Given the description of an element on the screen output the (x, y) to click on. 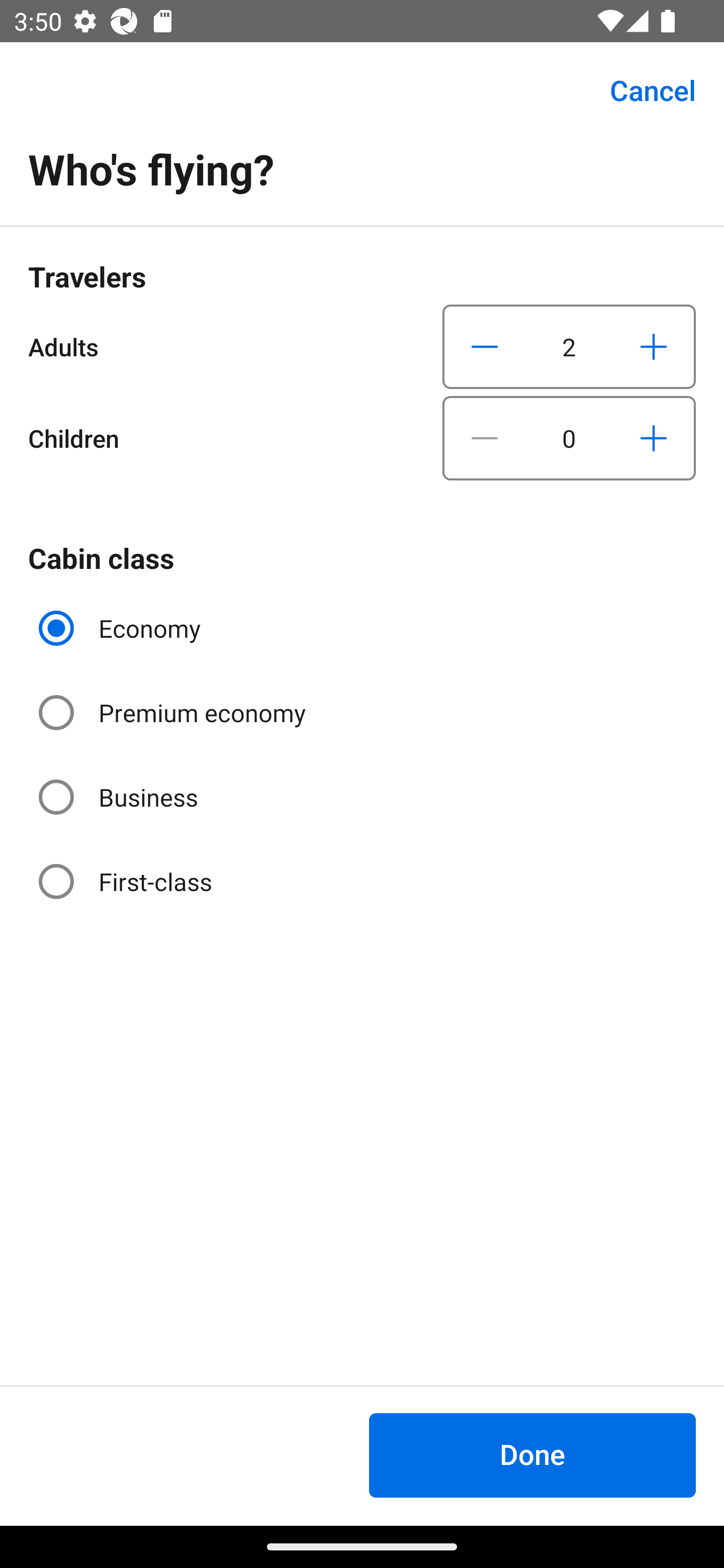
Cancel (641, 90)
Decrease (484, 346)
Increase (653, 346)
Decrease (484, 437)
Increase (653, 437)
Economy (121, 628)
Premium economy (174, 712)
Business (120, 796)
First-class (126, 880)
Done (532, 1454)
